Given the description of an element on the screen output the (x, y) to click on. 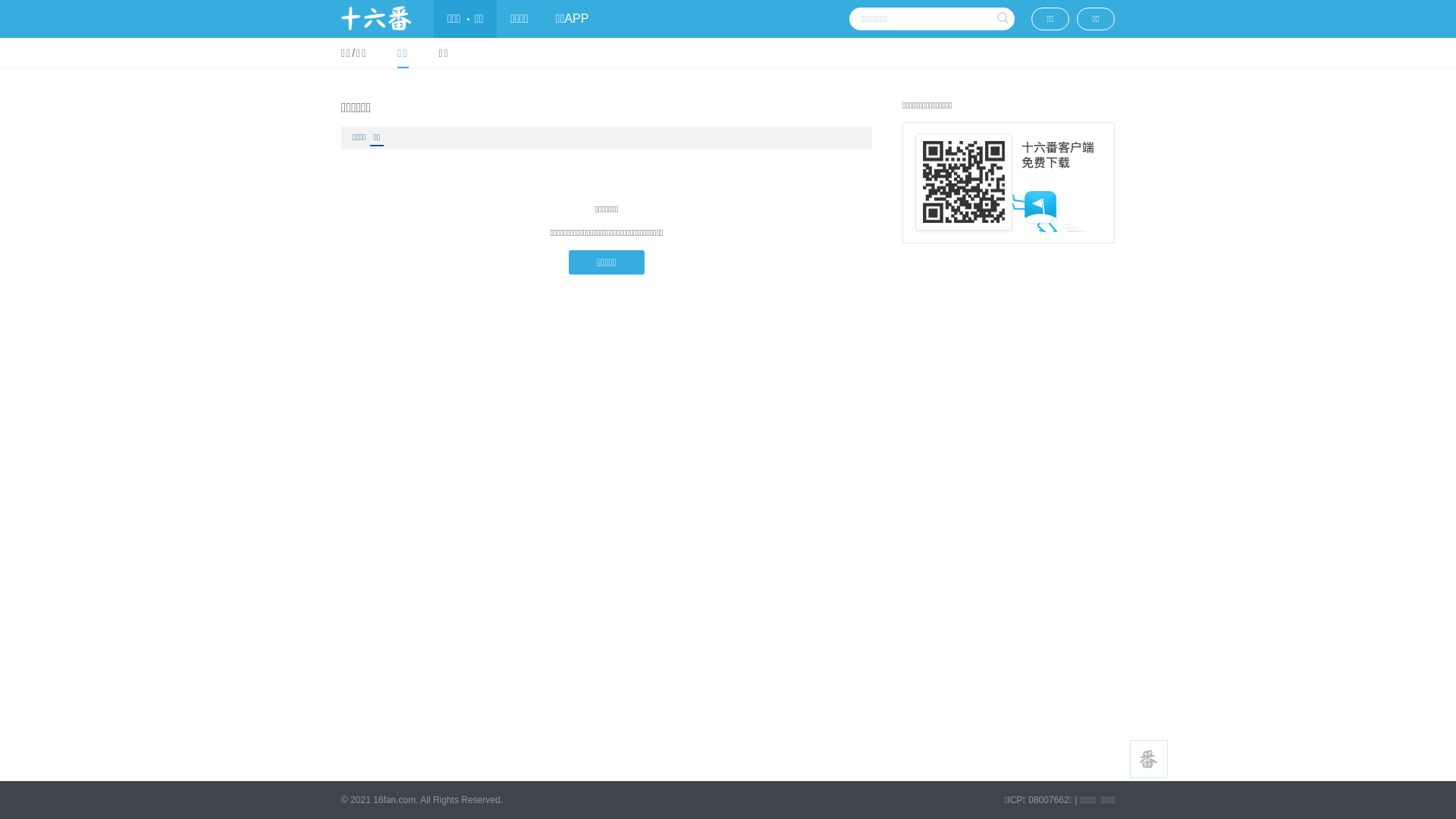
app download Element type: text (1008, 182)
